Given the description of an element on the screen output the (x, y) to click on. 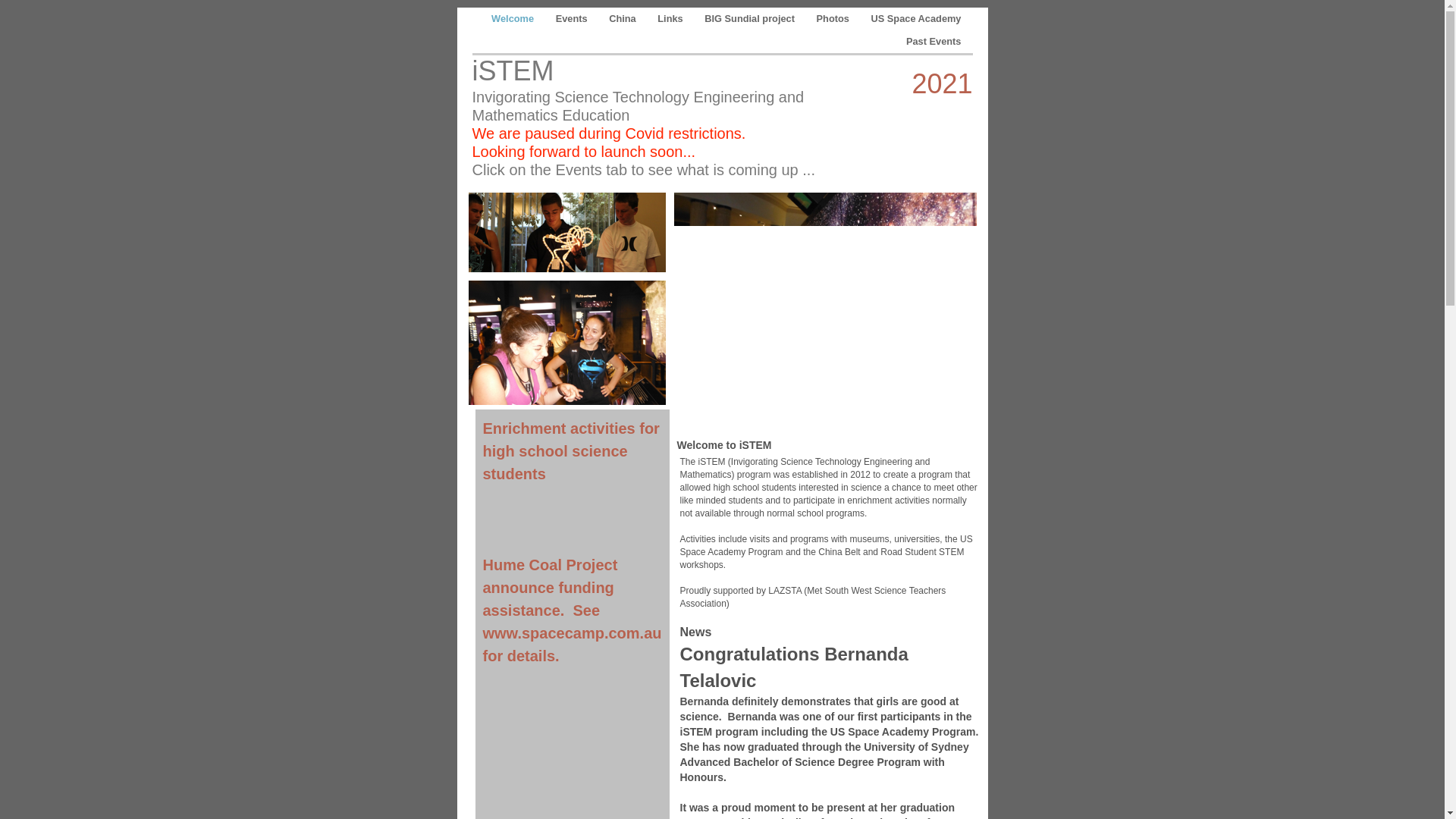
Welcome Element type: text (513, 18)
Events Element type: text (573, 18)
www.spacecamp.com.au Element type: text (571, 632)
BIG Sundial project Element type: text (750, 18)
Past Events Element type: text (933, 41)
Photos Element type: text (834, 18)
China Element type: text (623, 18)
Links Element type: text (671, 18)
US Space Academy Element type: text (915, 18)
